Given the description of an element on the screen output the (x, y) to click on. 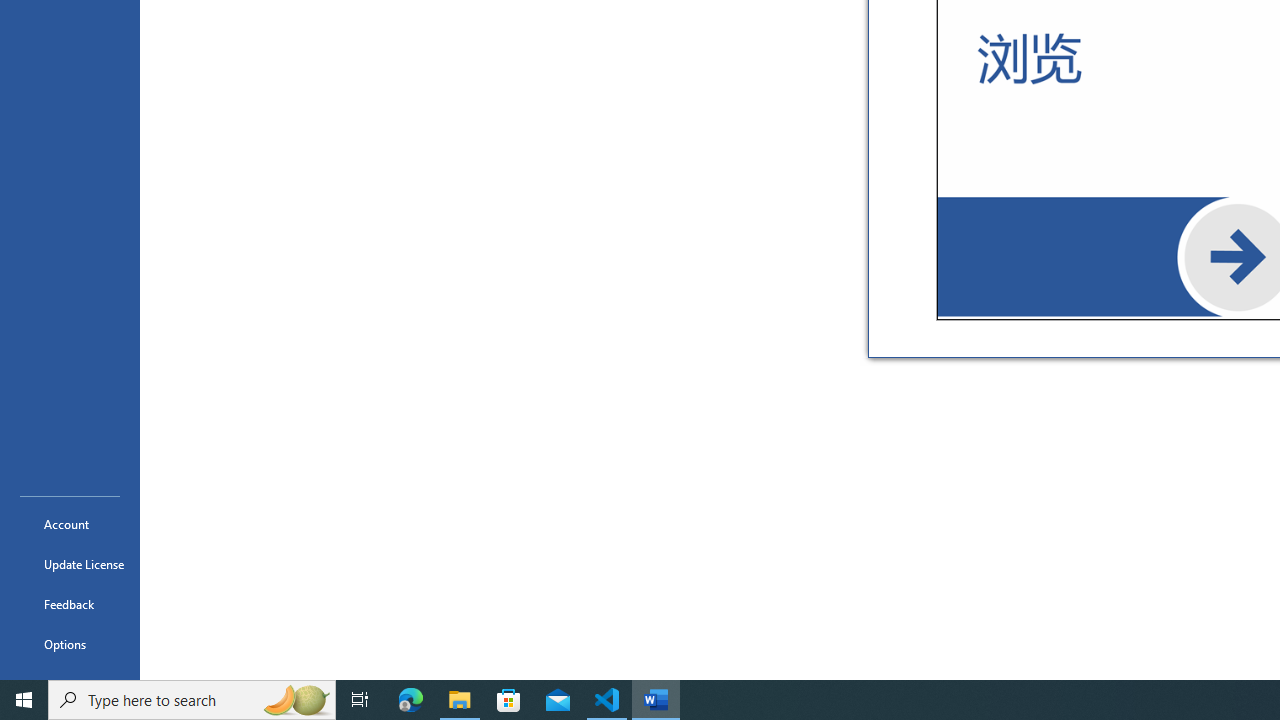
Task View (359, 699)
Options (69, 643)
File Explorer - 1 running window (460, 699)
Account (69, 523)
Word - 1 running window (656, 699)
Microsoft Store (509, 699)
Start (24, 699)
Type here to search (191, 699)
Update License (69, 563)
Microsoft Edge (411, 699)
Search highlights icon opens search home window (295, 699)
Feedback (69, 603)
Visual Studio Code - 1 running window (607, 699)
